Given the description of an element on the screen output the (x, y) to click on. 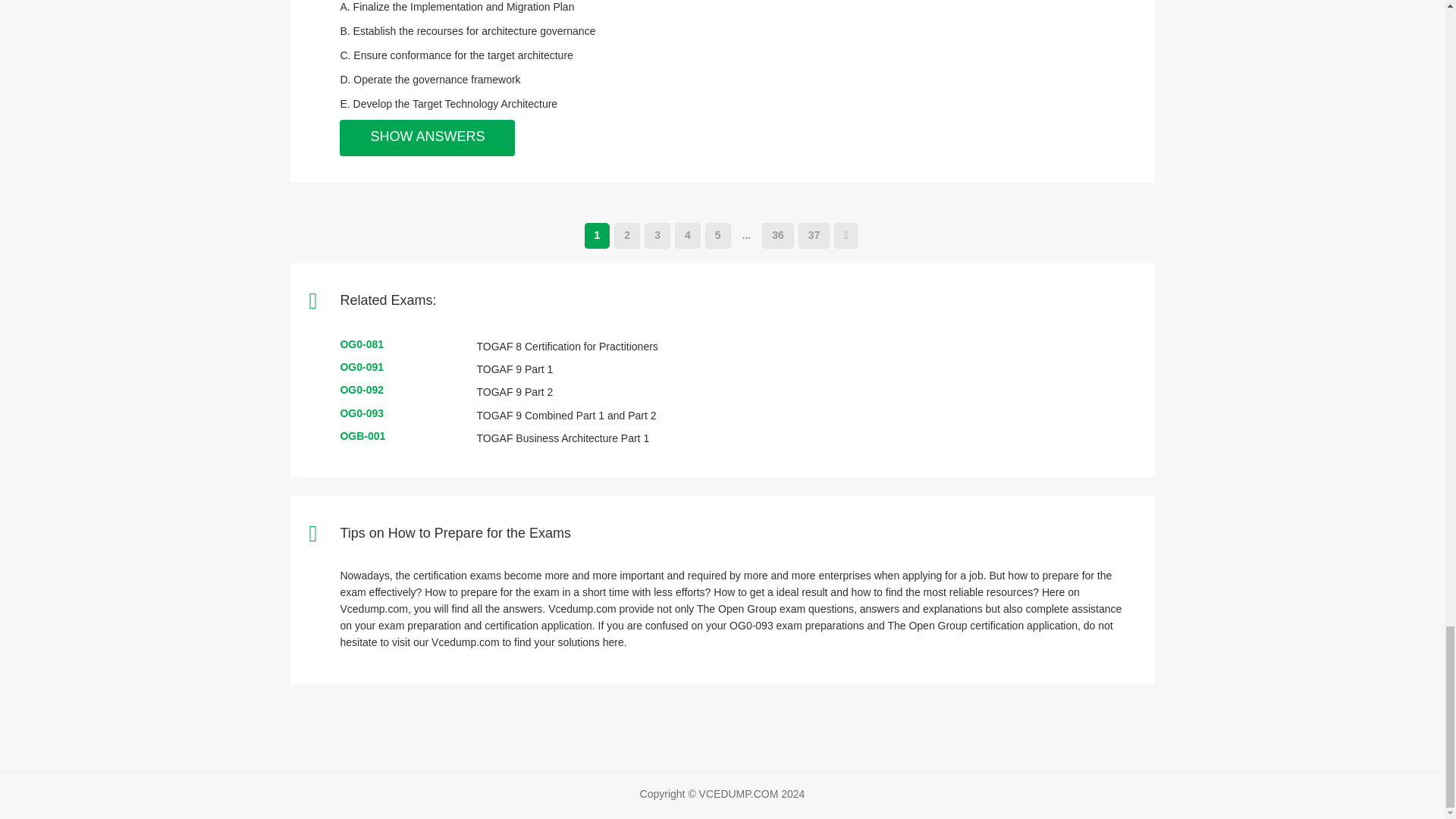
1 (597, 235)
VCEDUMP.COM (738, 793)
36 (777, 235)
TOGAF 8 Certification for Practitioners (567, 346)
TOGAF Business Architecture Part 1 (562, 438)
5 (717, 235)
SHOW ANSWERS (427, 137)
... (746, 235)
OG0-081 (361, 344)
TOGAF 9 Part 1 (514, 369)
